Given the description of an element on the screen output the (x, y) to click on. 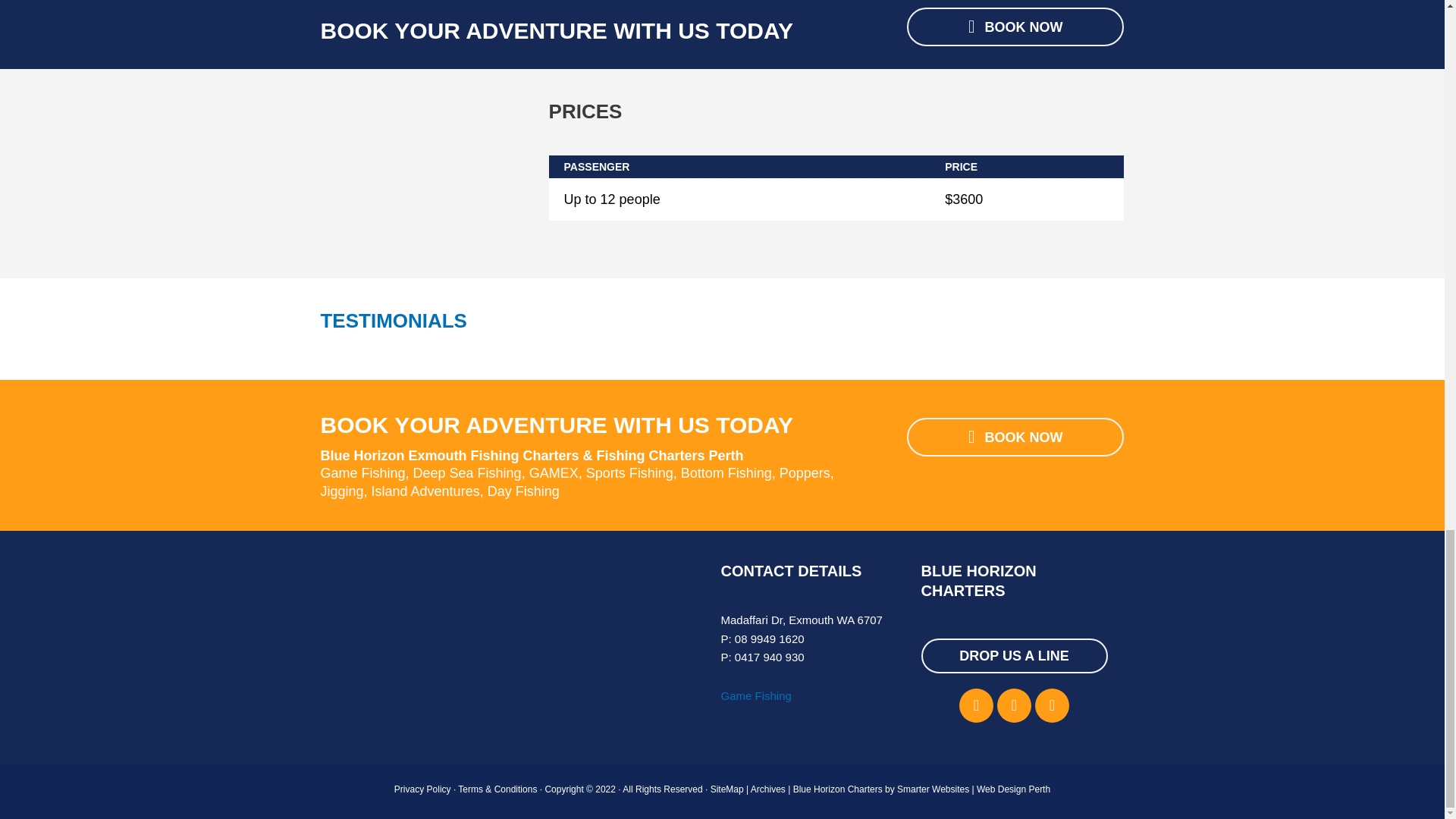
Instagram (1013, 705)
gamex-blue-horizon-charters-280 (408, 640)
Game Fishing (755, 695)
Facebook (975, 705)
TESTIMONIALS (392, 320)
BOOK NOW (1015, 26)
BOOK NOW (1015, 436)
Exmouth WA forecast (609, 726)
DROP US A LINE (1013, 655)
Privacy Policy (422, 788)
blue horizon fishing charters perth (419, 173)
